Given the description of an element on the screen output the (x, y) to click on. 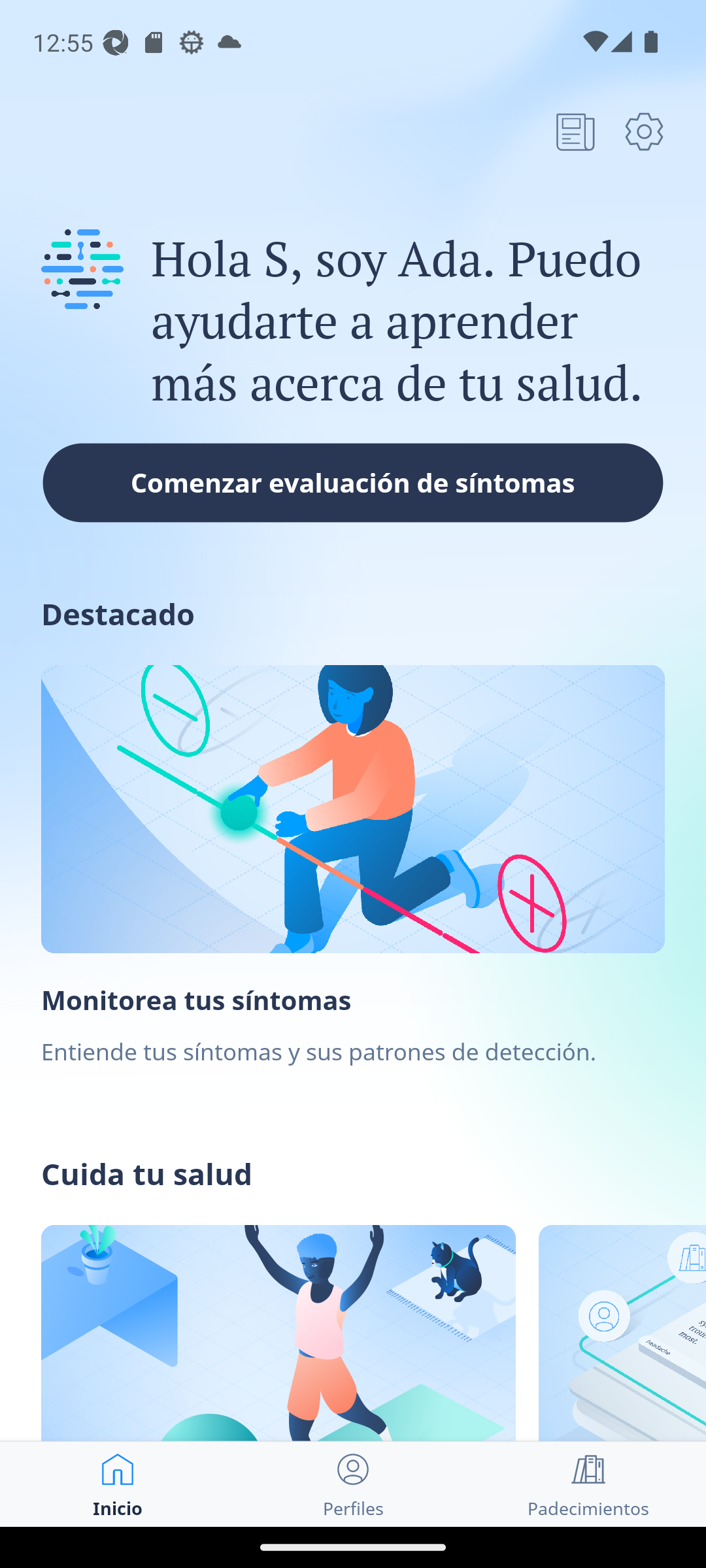
article icon , open articles (574, 131)
settings icon, open settings (644, 131)
Comenzar evaluación de síntomas (352, 482)
Inicio (117, 1484)
Perfiles (352, 1484)
Padecimientos (588, 1484)
